Given the description of an element on the screen output the (x, y) to click on. 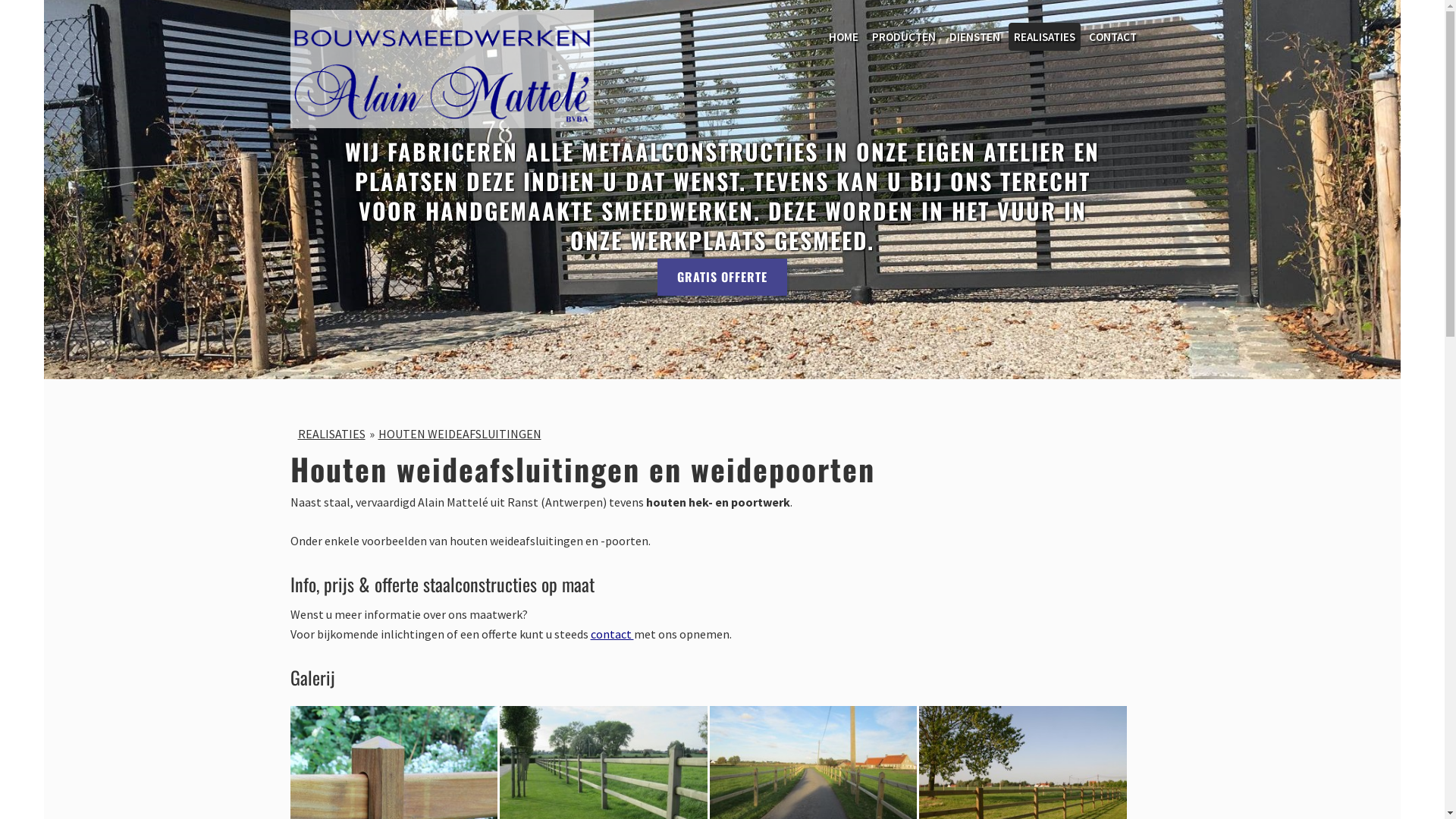
HOME Element type: text (843, 36)
DIENSTEN Element type: text (974, 36)
HOUTEN WEIDEAFSLUITINGEN Element type: text (458, 433)
CONTACT Element type: text (1112, 36)
PRODUCTEN Element type: text (903, 36)
GRATIS OFFERTE Element type: text (722, 276)
REALISATIES Element type: text (330, 433)
REALISATIES Element type: text (1044, 36)
contact Element type: text (611, 633)
